Given the description of an element on the screen output the (x, y) to click on. 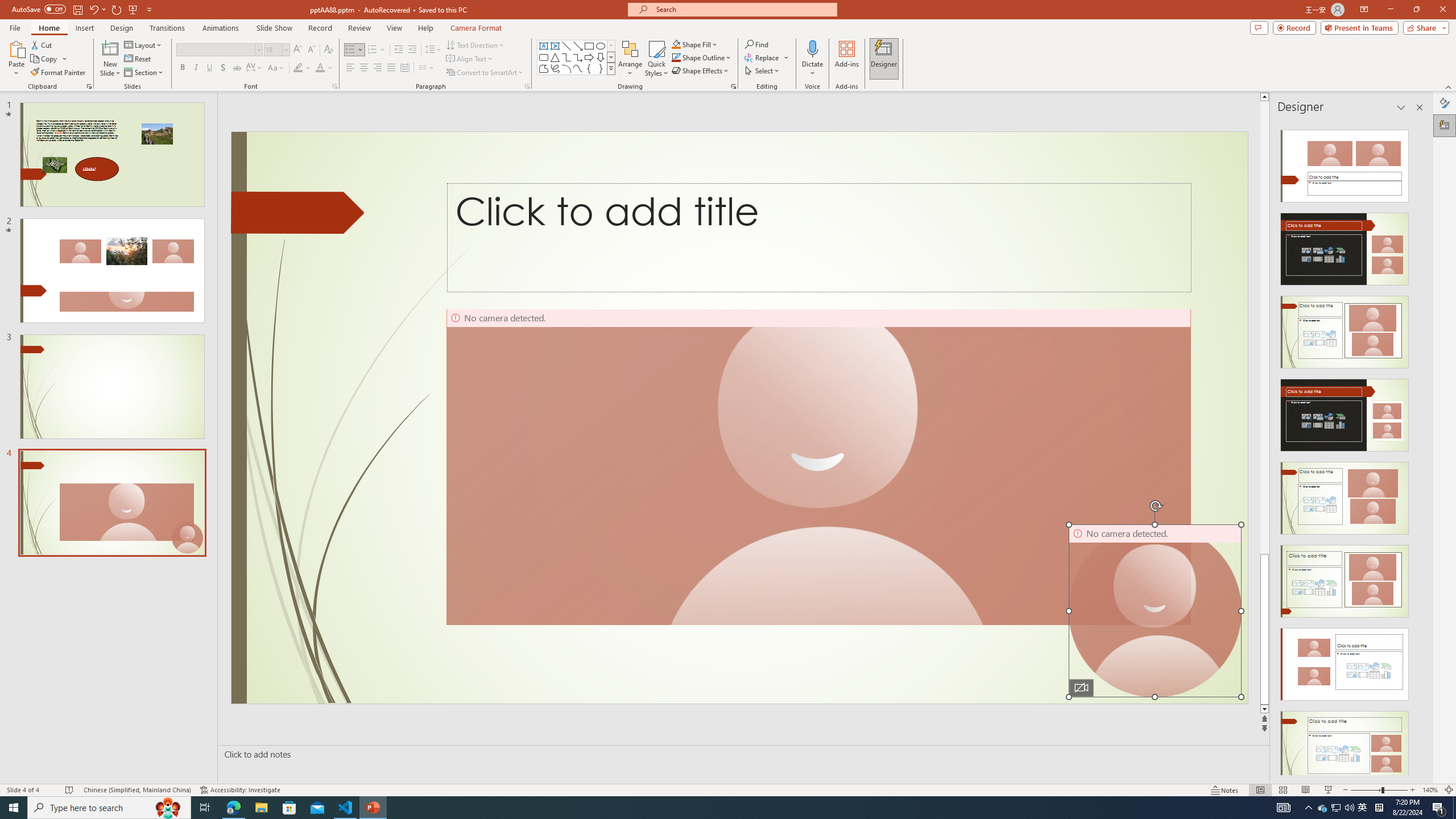
Select (762, 69)
Layout (143, 44)
Replace... (767, 56)
Arrow: Down (600, 57)
Office Clipboard... (88, 85)
View (395, 28)
Paragraph... (526, 85)
Home (48, 28)
Camera 3, No camera detected. (818, 466)
Right Brace (600, 68)
System (6, 6)
File Tab (15, 27)
Paste (16, 48)
Design Idea (1344, 743)
Camera 4, No camera detected. (1154, 610)
